Given the description of an element on the screen output the (x, y) to click on. 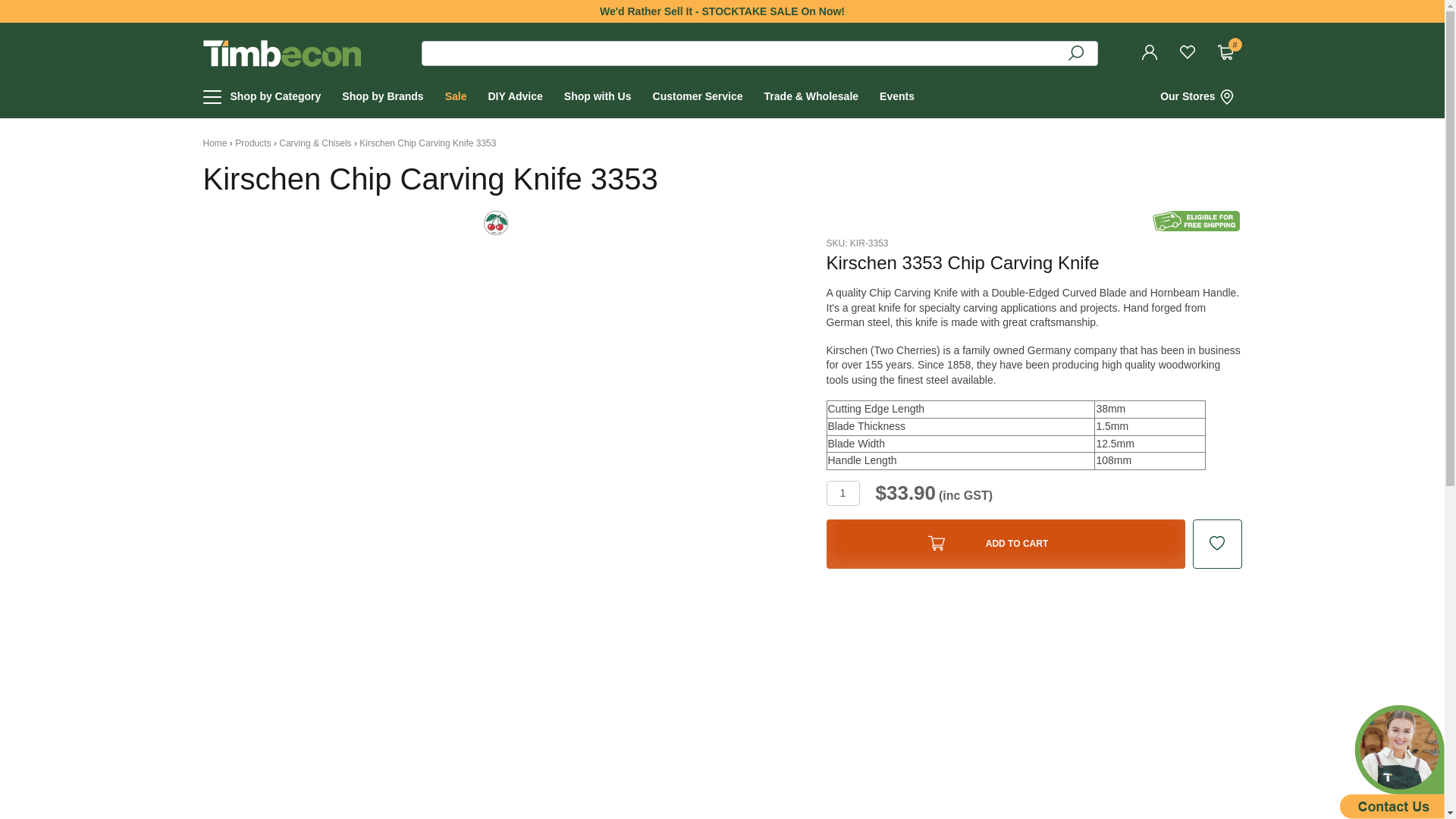
Kirschen Chip Carving Knife 3353 (1229, 52)
Add To Wishlist (427, 143)
Free Shipping (1216, 543)
Shop with Us (1196, 220)
Customer Service (597, 96)
Our Stores (697, 96)
Add to Cart (1200, 96)
My Account (1006, 543)
Add to Cart (1153, 52)
Shop by Category (1006, 543)
Home (275, 96)
DIY Advice (215, 143)
Shop by Brands (514, 96)
Add To Wishlist (382, 96)
